Given the description of an element on the screen output the (x, y) to click on. 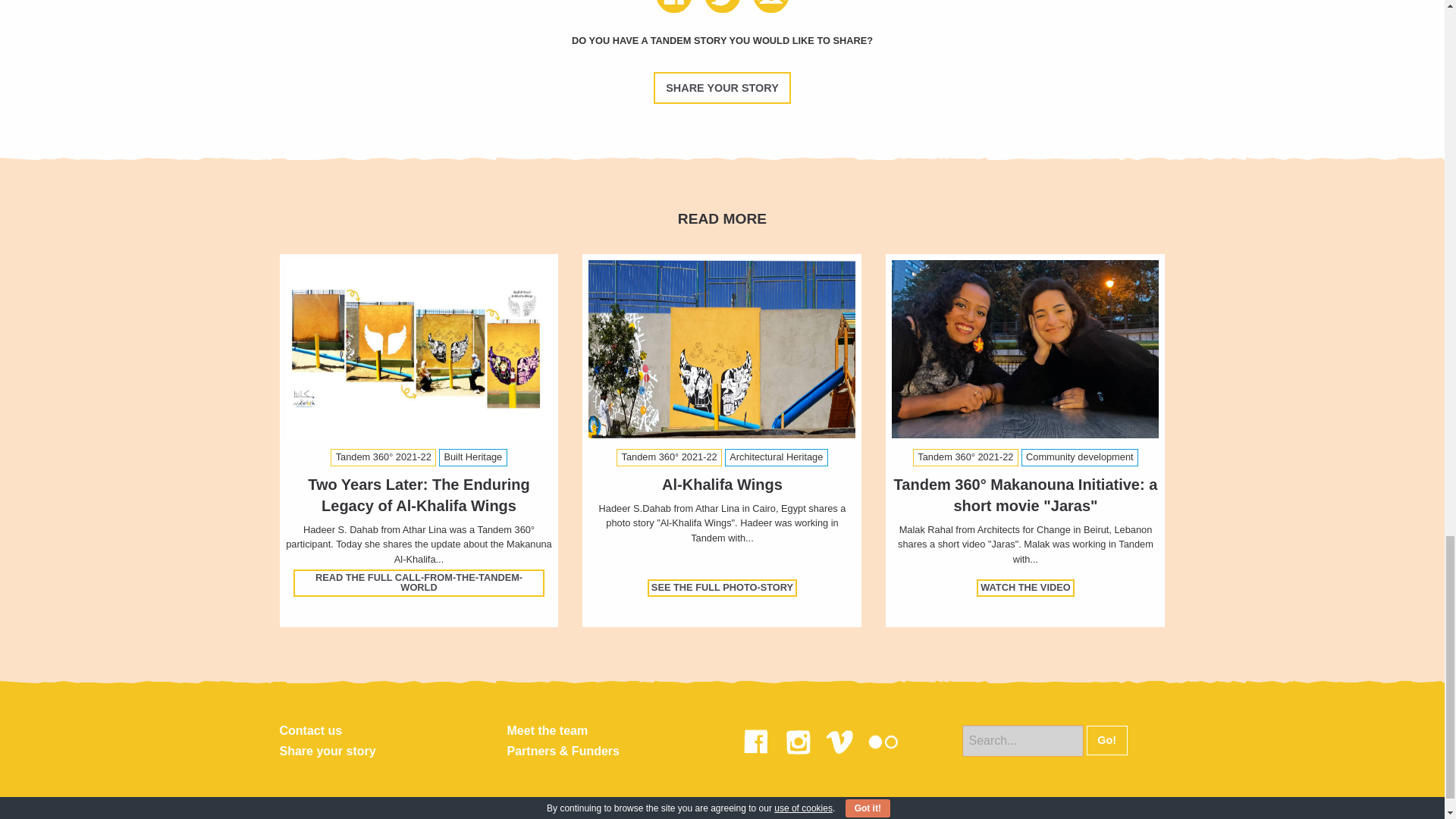
Two Years Later: The Enduring Legacy of Al-Khalifa Wings (418, 495)
Share this story on Twitter (727, 7)
Go! (1106, 740)
Share this story on Facebook (679, 7)
Share this story in an e-mail (770, 7)
SHARE YOUR STORY (721, 88)
Navigate to Submit a story (721, 88)
Go! (1106, 740)
READ THE FULL CALL-FROM-THE-TANDEM-WORLD (419, 583)
Built Heritage (472, 457)
